Given the description of an element on the screen output the (x, y) to click on. 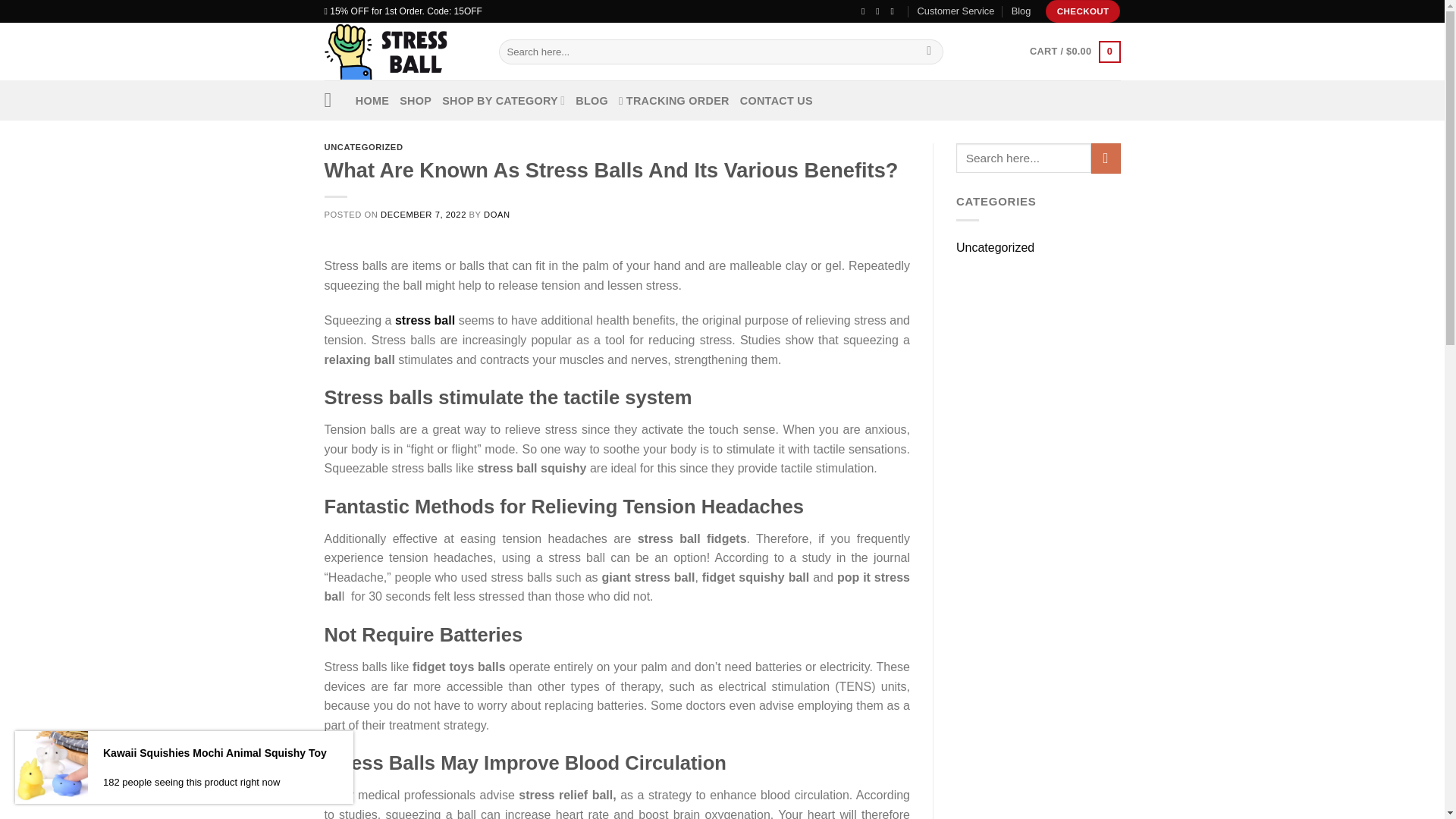
HOME (371, 100)
UNCATEGORIZED (363, 146)
CONTACT US (775, 100)
Cart (1074, 52)
Follow on Twitter (865, 10)
Follow on Pinterest (894, 10)
BLOG (591, 100)
Customer Service (955, 11)
DECEMBER 7, 2022 (422, 214)
SHOP BY CATEGORY (503, 100)
Send us an email (880, 10)
Blog (1020, 11)
Search (929, 52)
Stress Ball (400, 51)
SHOP (414, 100)
